Given the description of an element on the screen output the (x, y) to click on. 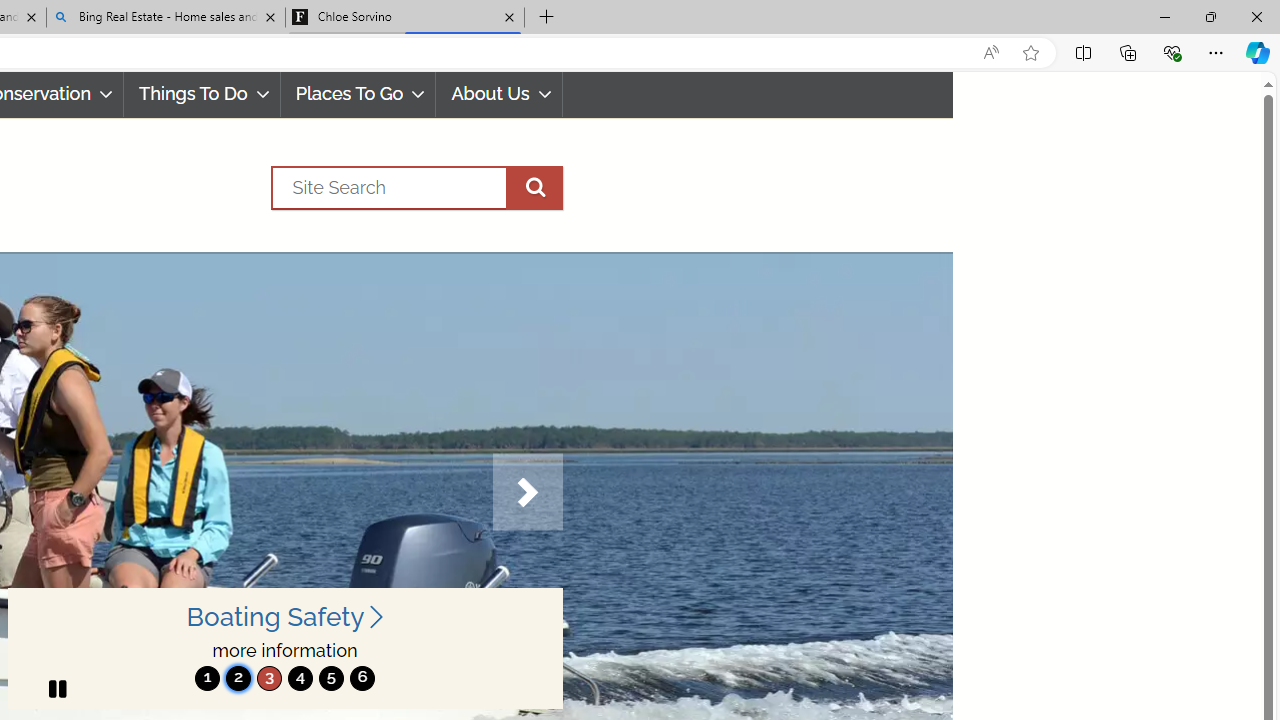
Bing Real Estate - Home sales and rental listings (166, 17)
New Tab (546, 17)
3 (269, 678)
Copilot (Ctrl+Shift+.) (1258, 52)
move to slide 4 (300, 678)
1 (207, 678)
Search (416, 187)
Minimize (1164, 16)
move to slide 1 (207, 678)
6 (362, 678)
Add this page to favorites (Ctrl+D) (1030, 53)
Places To Go (358, 94)
Split screen (1083, 52)
Next (527, 491)
Browser essentials (1171, 52)
